Given the description of an element on the screen output the (x, y) to click on. 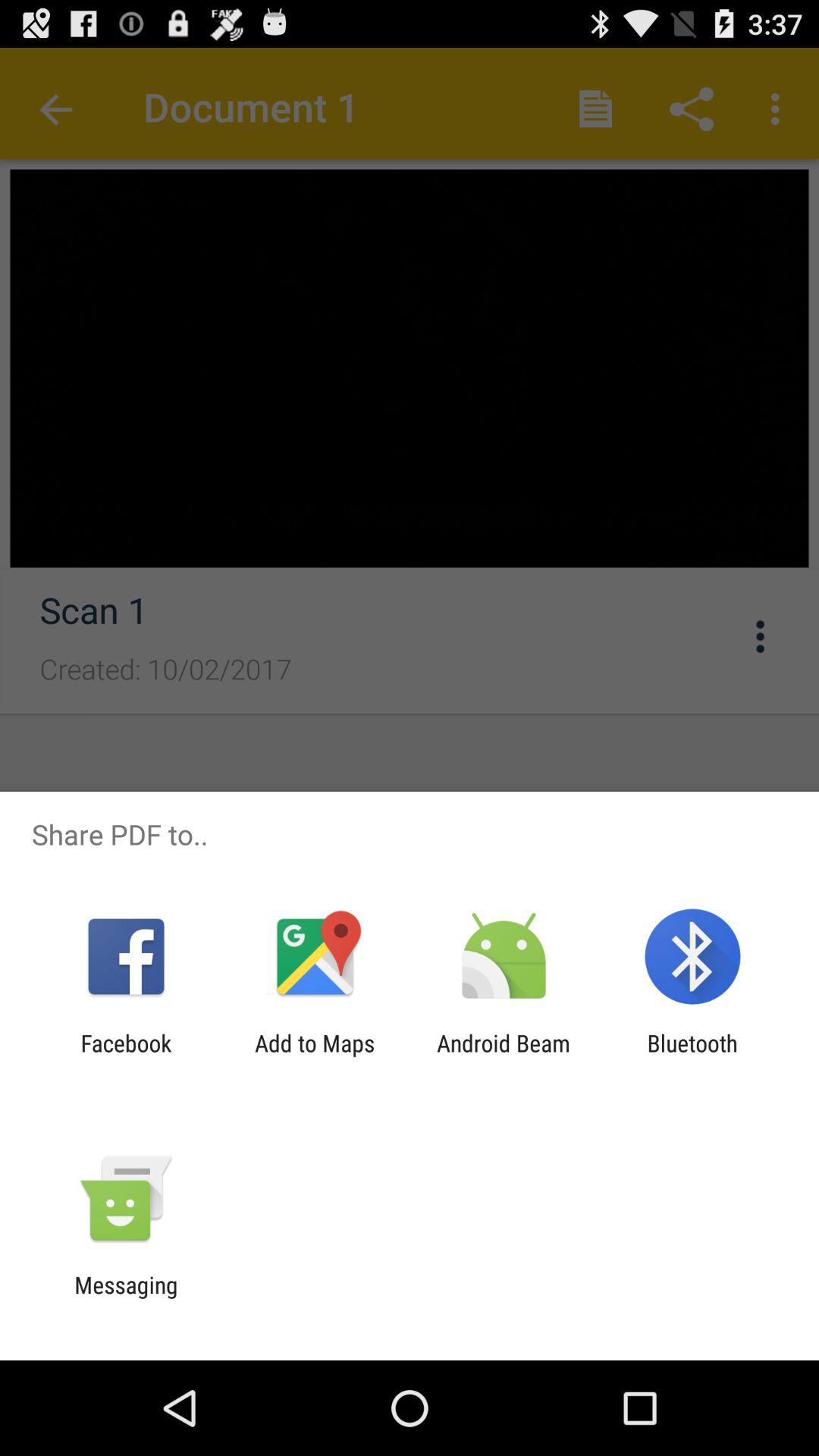
choose the item to the left of the add to maps app (125, 1056)
